Given the description of an element on the screen output the (x, y) to click on. 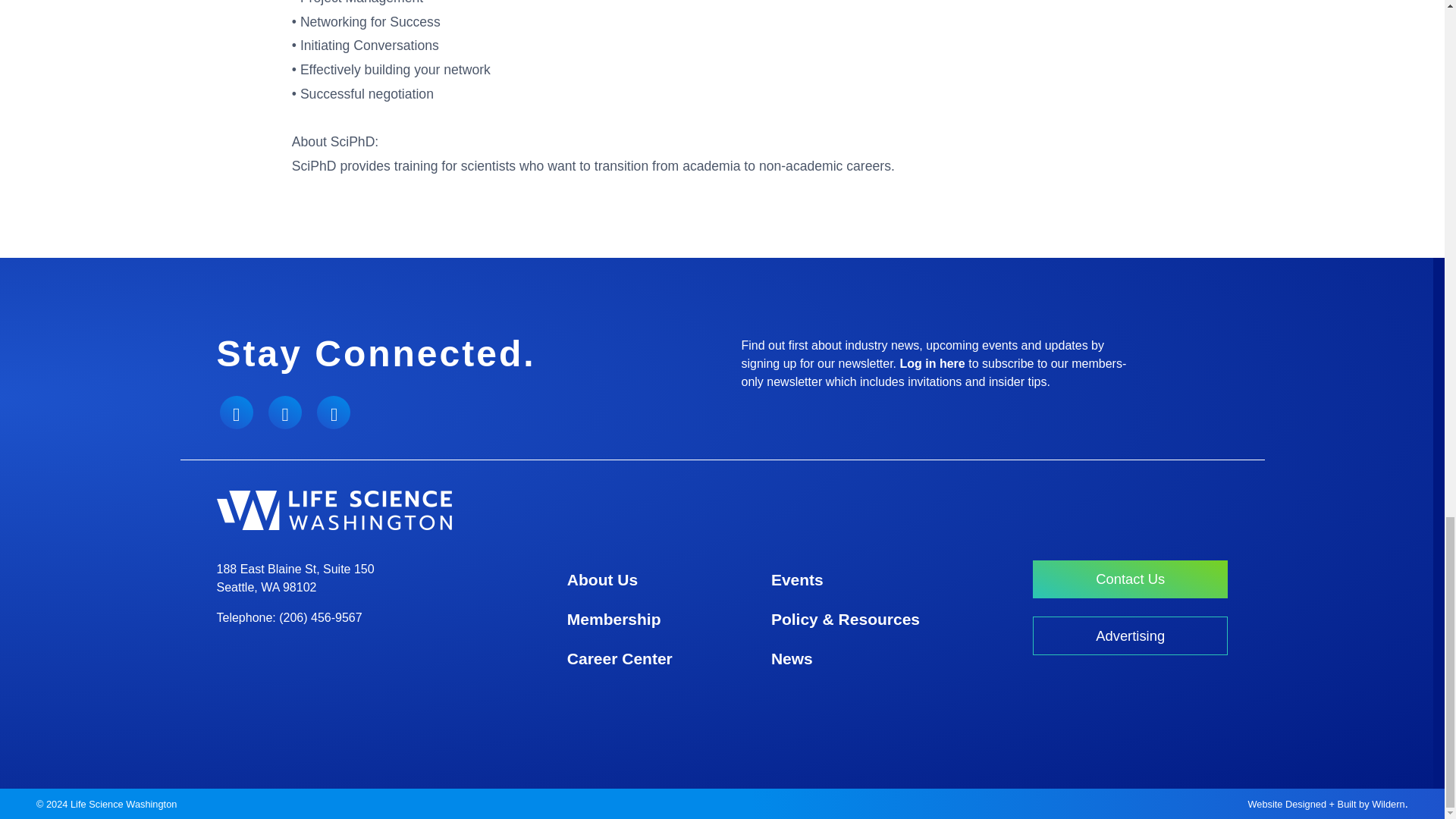
Twitter (236, 412)
Events (797, 579)
About Us (602, 579)
LinkedIn (333, 412)
Log in here (932, 363)
Facebook (284, 412)
